Given the description of an element on the screen output the (x, y) to click on. 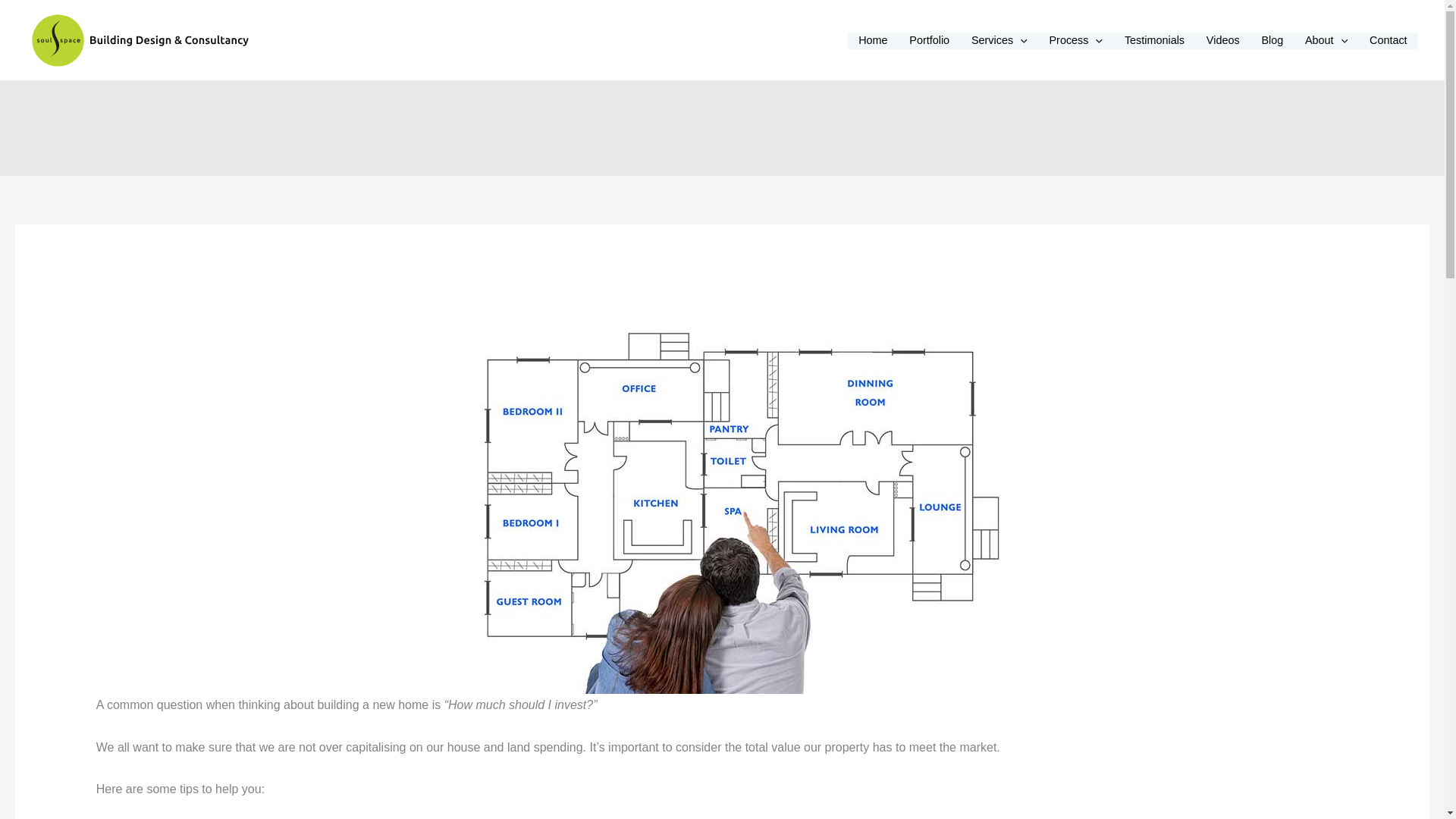
Blog (1272, 40)
Home (872, 40)
Process (1075, 40)
Contact (1388, 40)
Videos (1222, 40)
Services (999, 40)
About (1326, 40)
Portfolio (929, 40)
Testimonials (1154, 40)
